Given the description of an element on the screen output the (x, y) to click on. 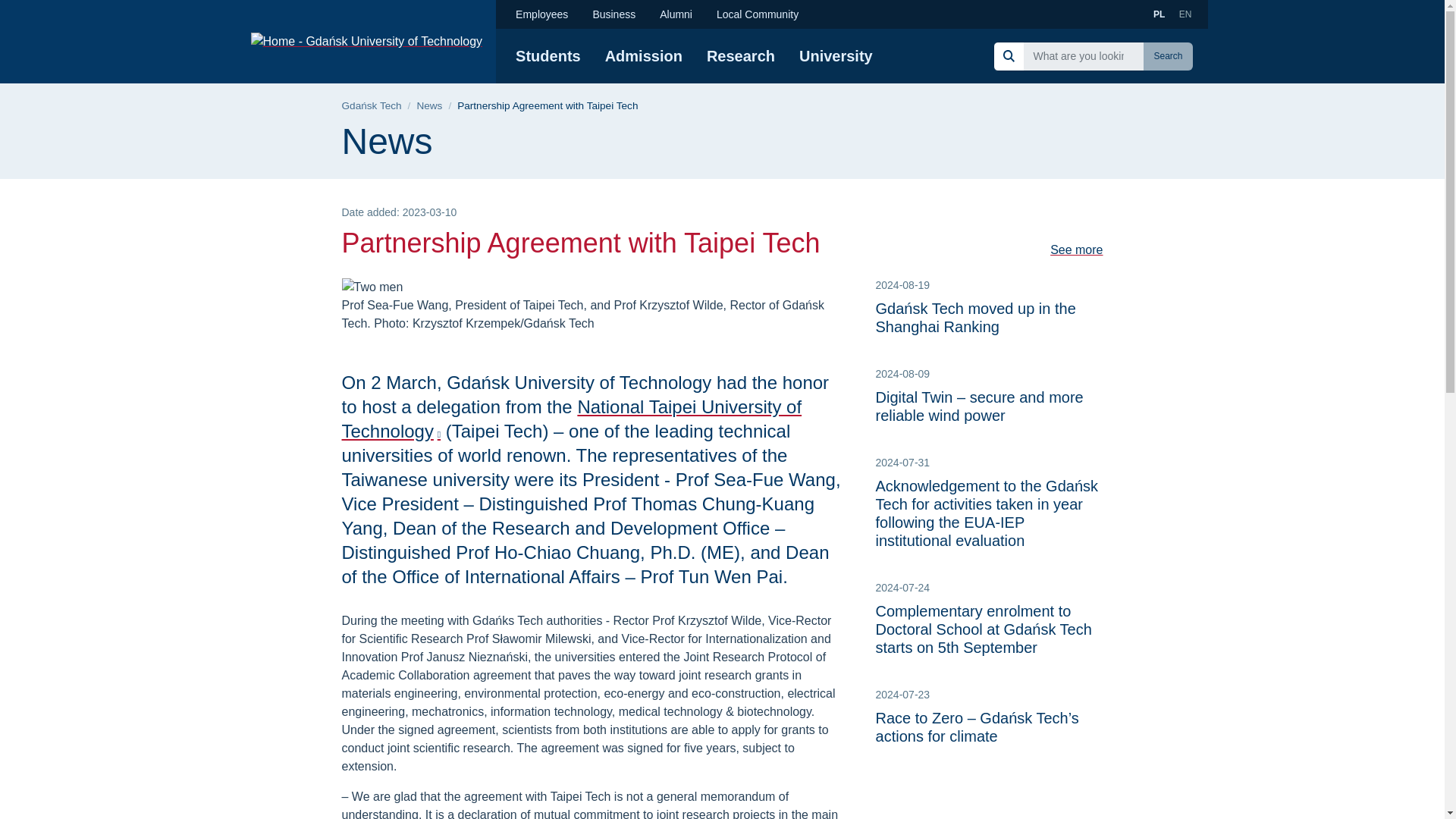
Back to News (429, 105)
Search (1167, 56)
Enter the terms you wish to search for. (1082, 55)
Search (1167, 56)
